Given the description of an element on the screen output the (x, y) to click on. 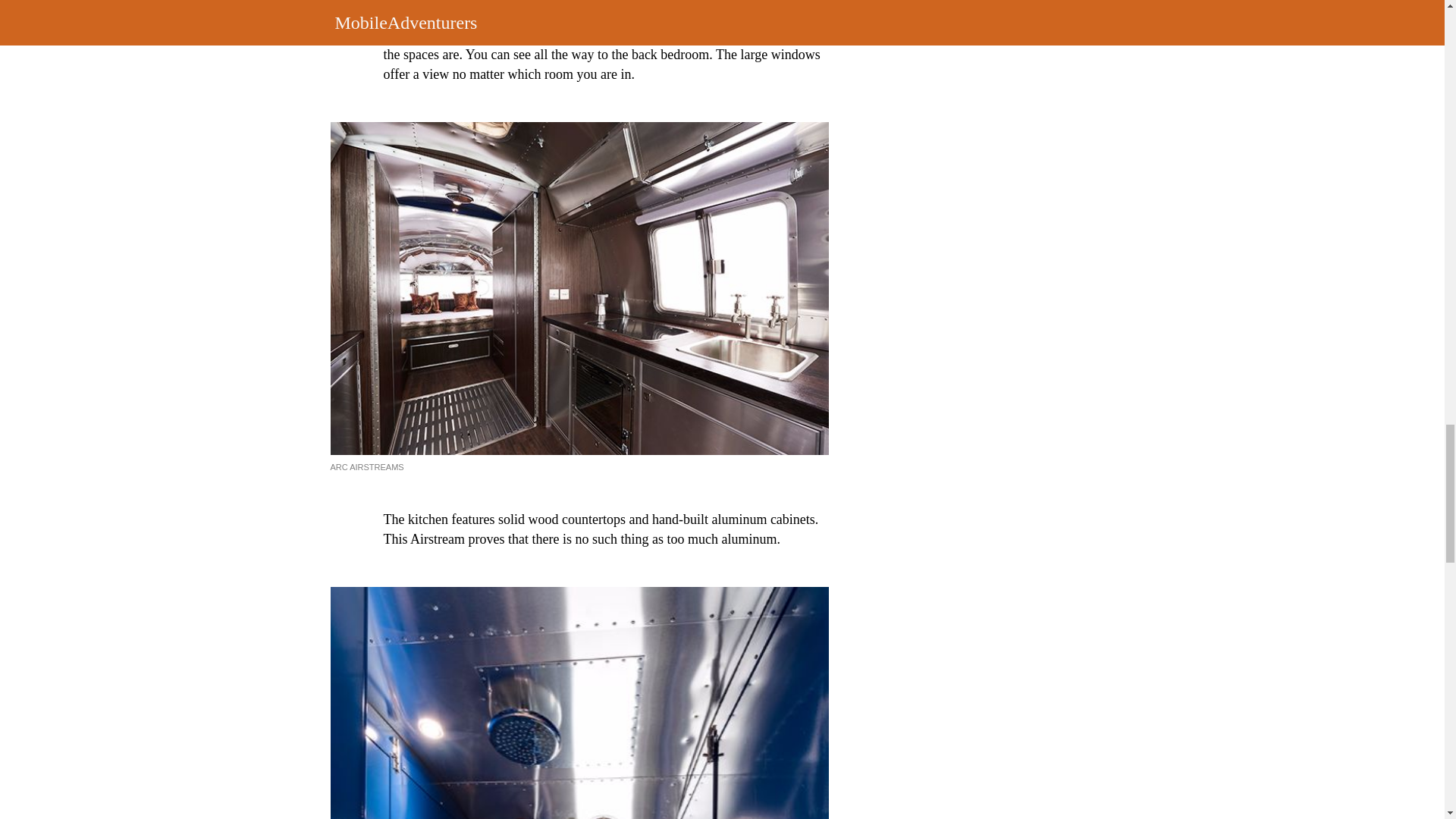
ARC AIRSTREAMS (367, 466)
